Given the description of an element on the screen output the (x, y) to click on. 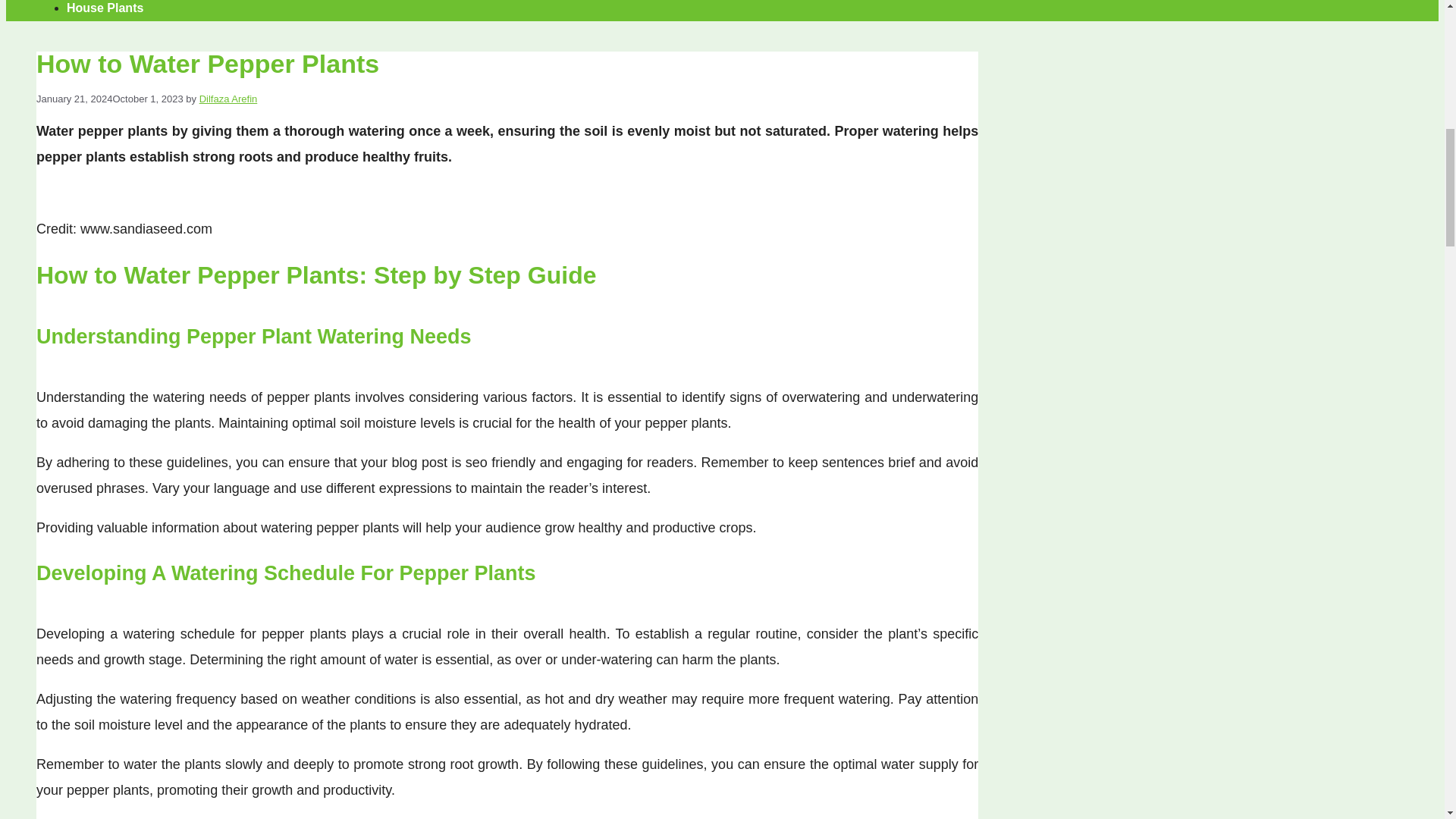
House Plants (104, 7)
Dilfaza Arefin (228, 98)
View all posts by Dilfaza Arefin (228, 98)
Scroll back to top (1406, 720)
